Given the description of an element on the screen output the (x, y) to click on. 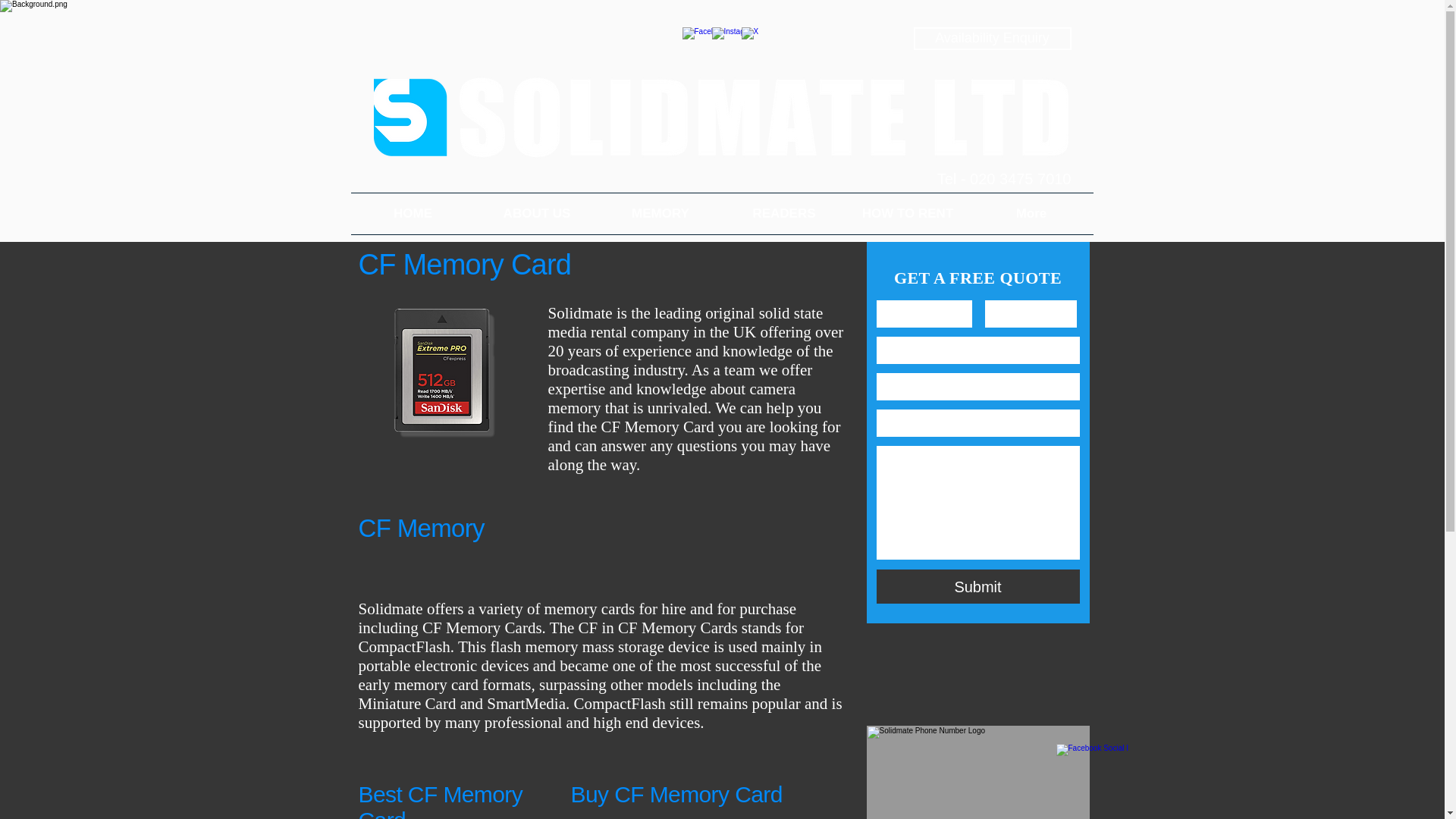
HOW TO RENT (907, 213)
ABOUT US (536, 213)
READERS (783, 213)
MEMORY (660, 213)
Submit (978, 586)
Availability Enquiry (991, 38)
HOME (412, 213)
